Given the description of an element on the screen output the (x, y) to click on. 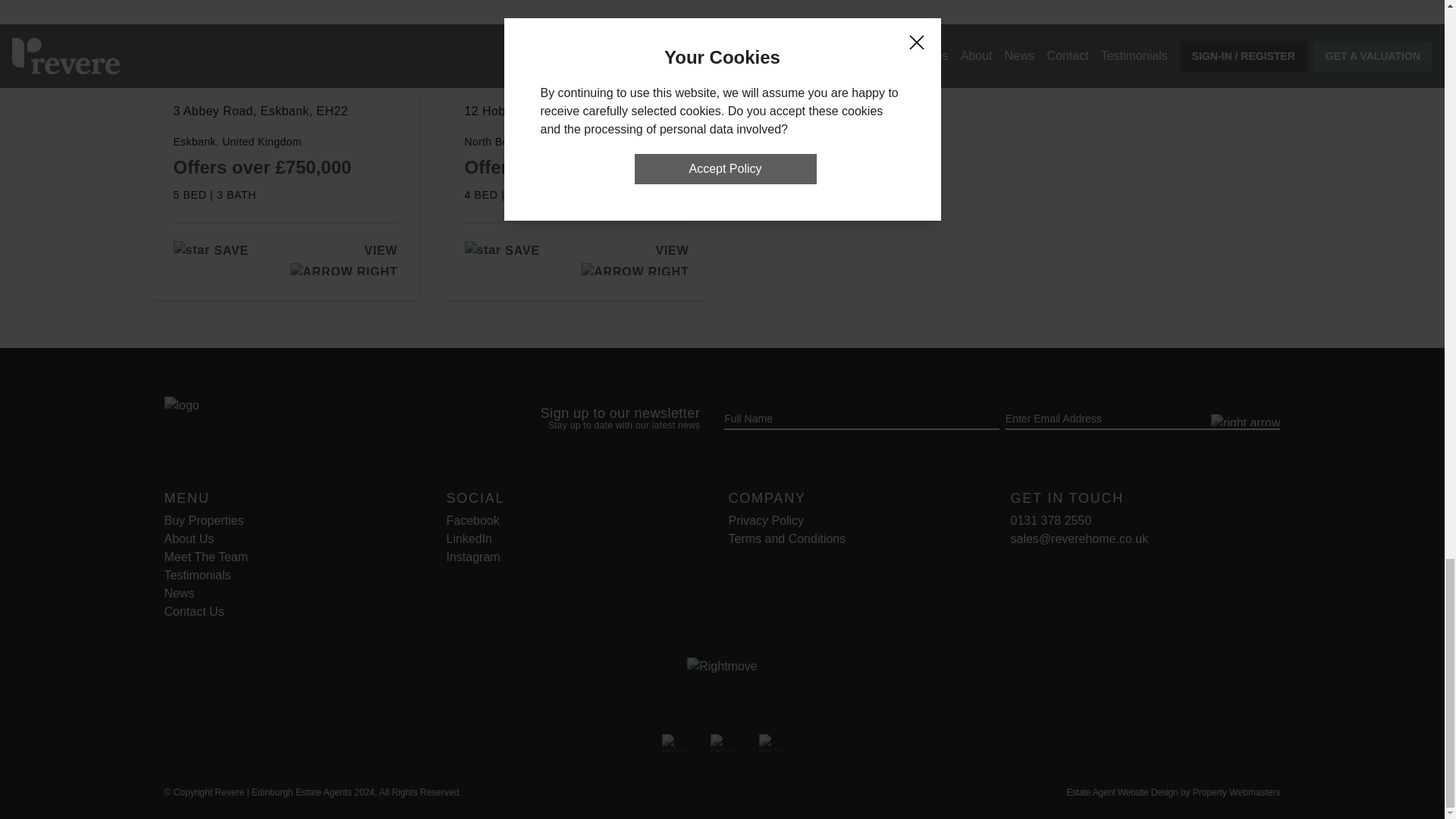
3 Abbey Road, Eskbank, EH22 (285, 119)
Save (501, 250)
Eskbank, United Kingdom (285, 141)
12 Hobens Drive, North Berwick, EH39 (576, 119)
View About Us (188, 538)
Save (210, 250)
View this property (341, 259)
View Buy Properties (203, 520)
North Berwick, United Kingdom (576, 141)
Back to homepage (302, 420)
